Given the description of an element on the screen output the (x, y) to click on. 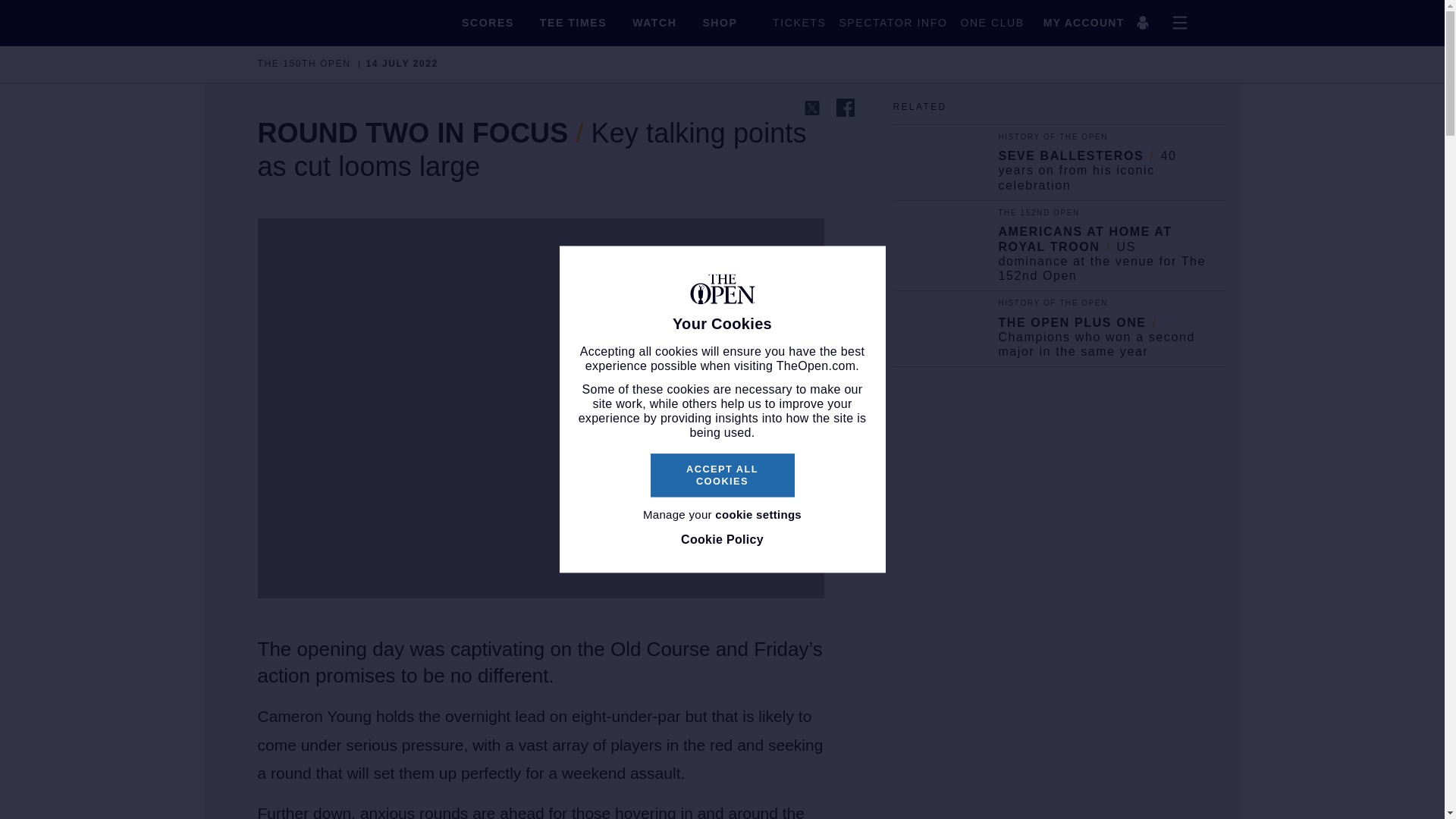
WATCH (654, 22)
ONE CLUB (985, 22)
SCORES (487, 22)
SPECTATOR INFO (886, 22)
MY ACCOUNT (1098, 22)
TICKETS (792, 22)
SHOP (718, 22)
TEE TIMES (573, 22)
